Given the description of an element on the screen output the (x, y) to click on. 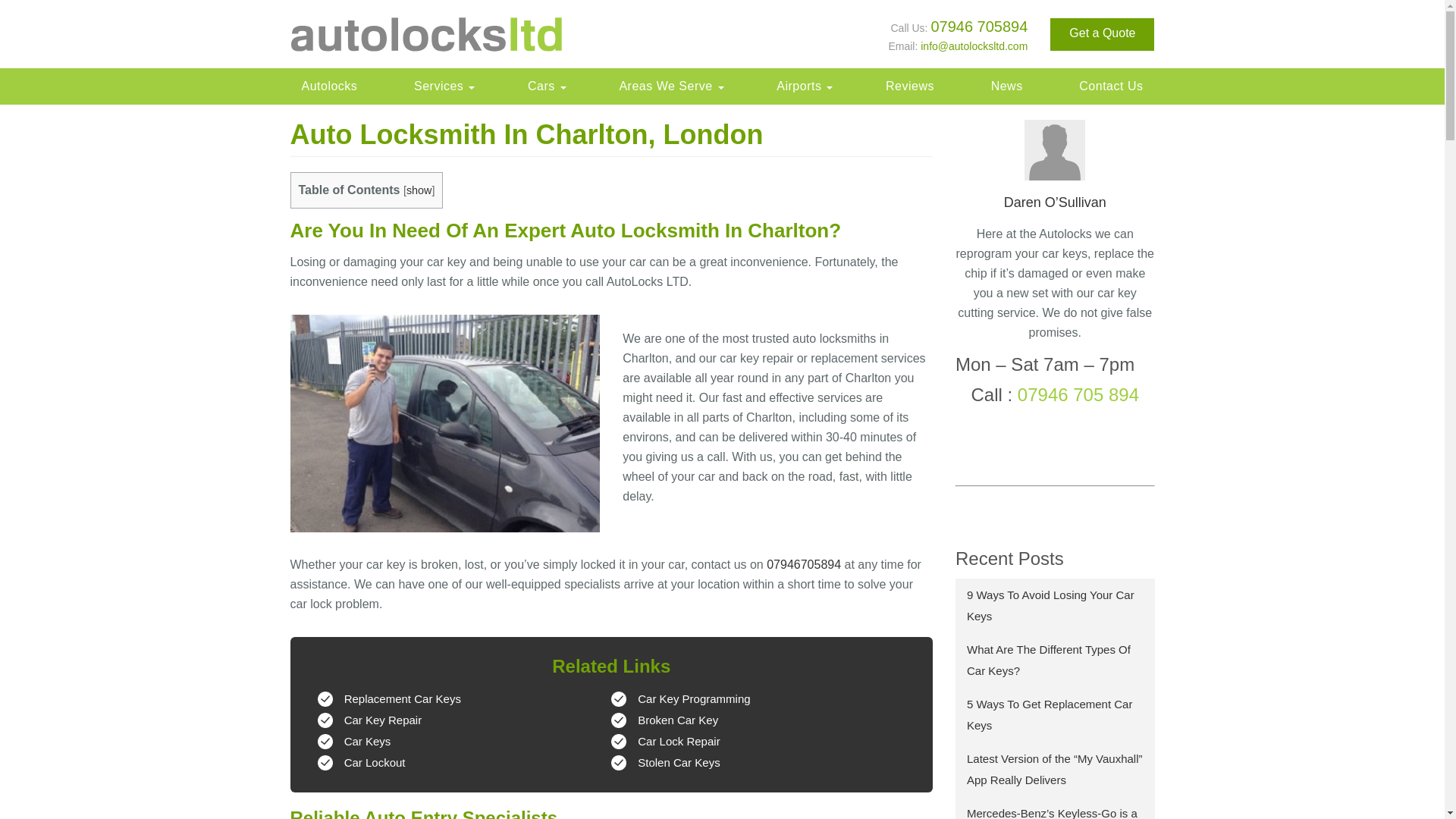
Autolocks (328, 85)
07946 705894 (978, 26)
Locksmiths London (328, 85)
Cars (544, 85)
Get a Quote (1101, 34)
Services (442, 85)
